Given the description of an element on the screen output the (x, y) to click on. 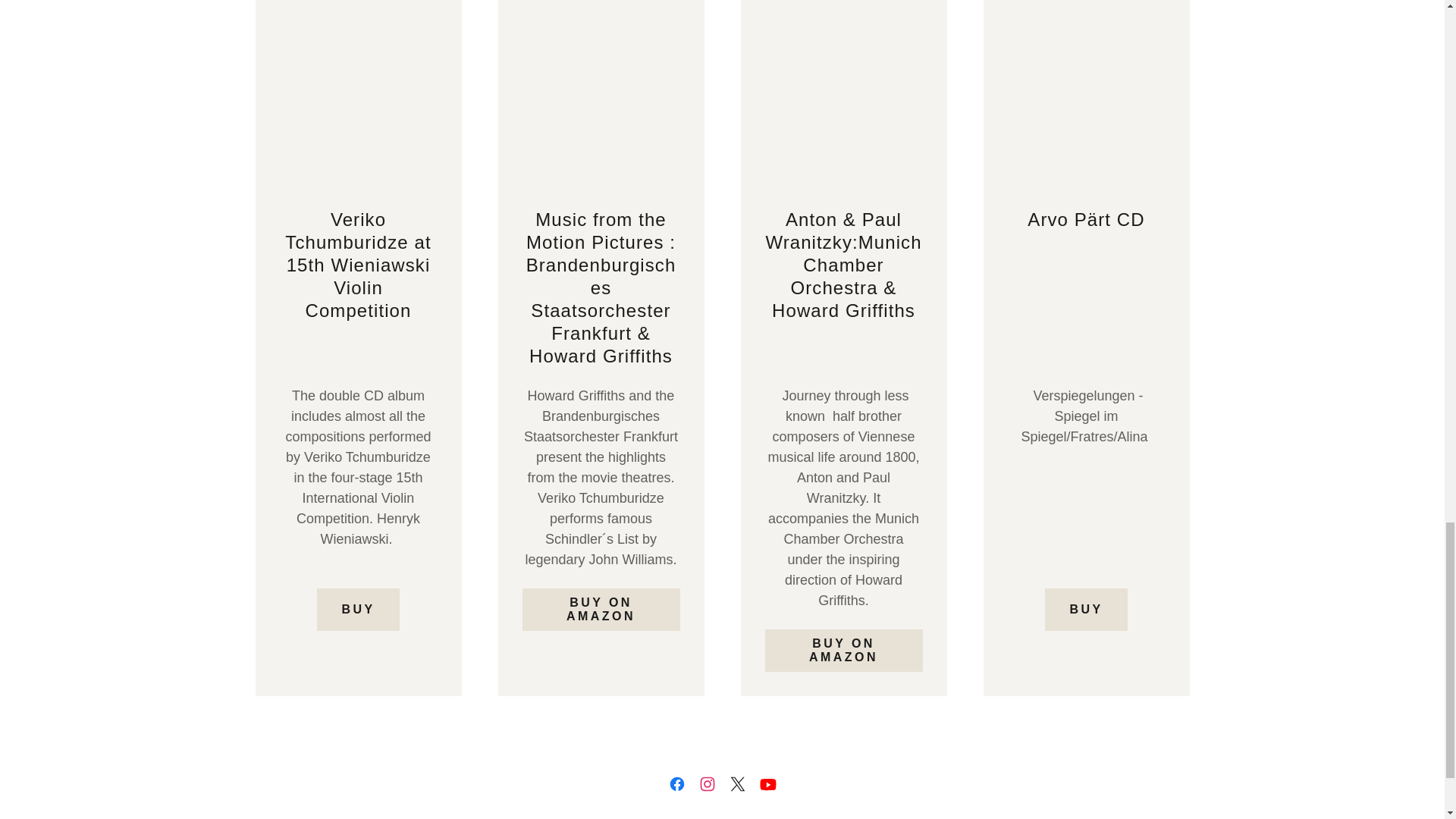
BUY ON AMAZON (842, 650)
BUY (1085, 609)
BUY ON AMAZON (600, 609)
BUY (357, 609)
